Given the description of an element on the screen output the (x, y) to click on. 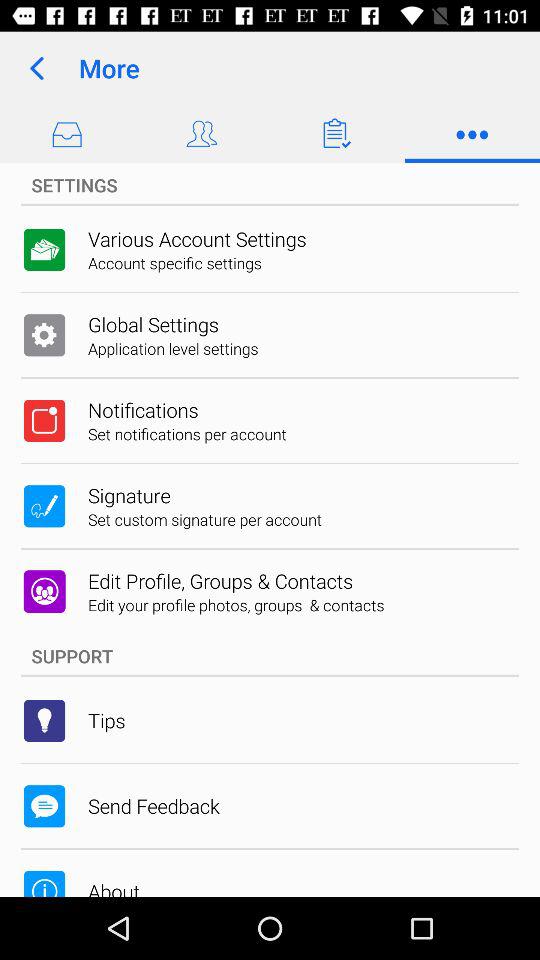
click the item next to more item (36, 68)
